Given the description of an element on the screen output the (x, y) to click on. 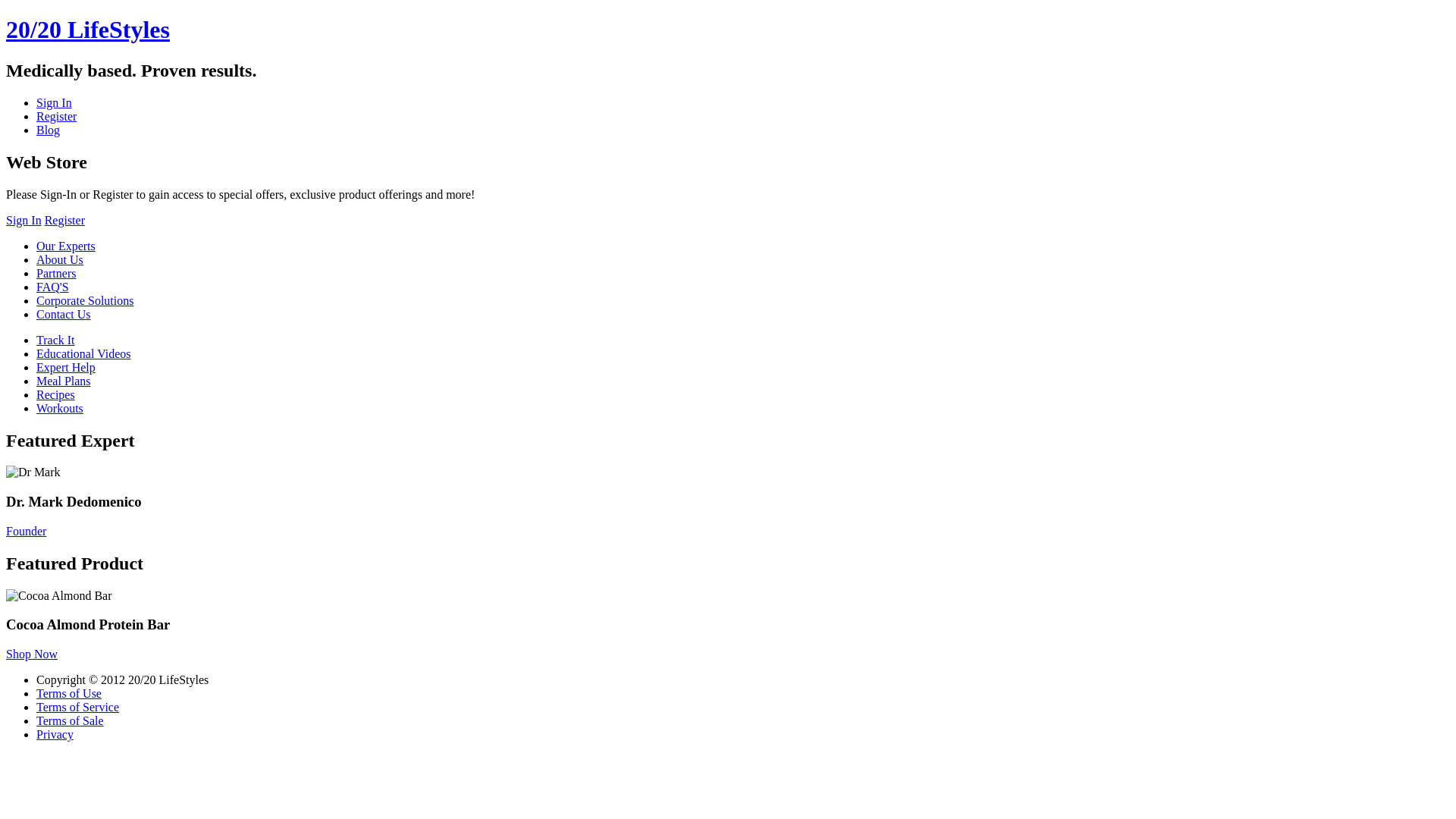
Terms of Service Element type: text (77, 706)
Our Experts Element type: text (65, 245)
Founder Element type: text (26, 530)
Workouts Element type: text (59, 407)
FAQ'S Element type: text (52, 286)
Meal Plans Element type: text (63, 380)
About Us Element type: text (59, 259)
Sign In Element type: text (54, 102)
Partners Element type: text (55, 272)
Educational Videos Element type: text (83, 353)
Track It Element type: text (55, 339)
Expert Help Element type: text (65, 366)
Recipes Element type: text (55, 394)
Register Element type: text (56, 115)
Terms of Use Element type: text (68, 693)
Blog Element type: text (47, 129)
Corporate Solutions Element type: text (84, 300)
Shop Now Element type: text (31, 653)
Contact Us Element type: text (63, 313)
Sign In Element type: text (23, 219)
Terms of Sale Element type: text (69, 720)
Privacy Element type: text (54, 734)
20/20 LifeStyles Element type: text (87, 29)
Register Element type: text (64, 219)
